Given the description of an element on the screen output the (x, y) to click on. 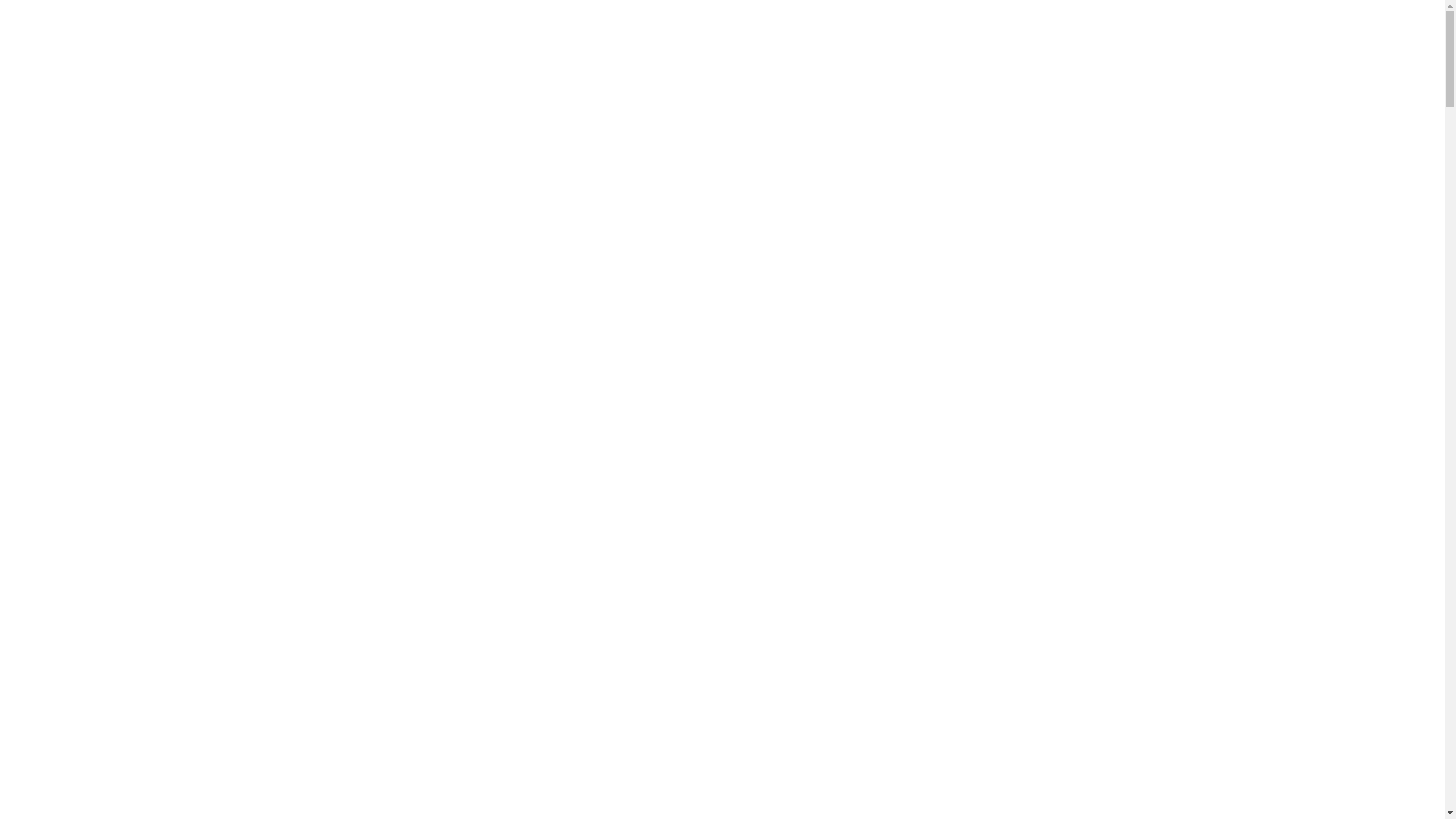
CUSP | Landscape Architecture + Urban Design Element type: text (134, 68)
Proceed Element type: text (370, 477)
PROJECTS Element type: text (350, 64)
